Given the description of an element on the screen output the (x, y) to click on. 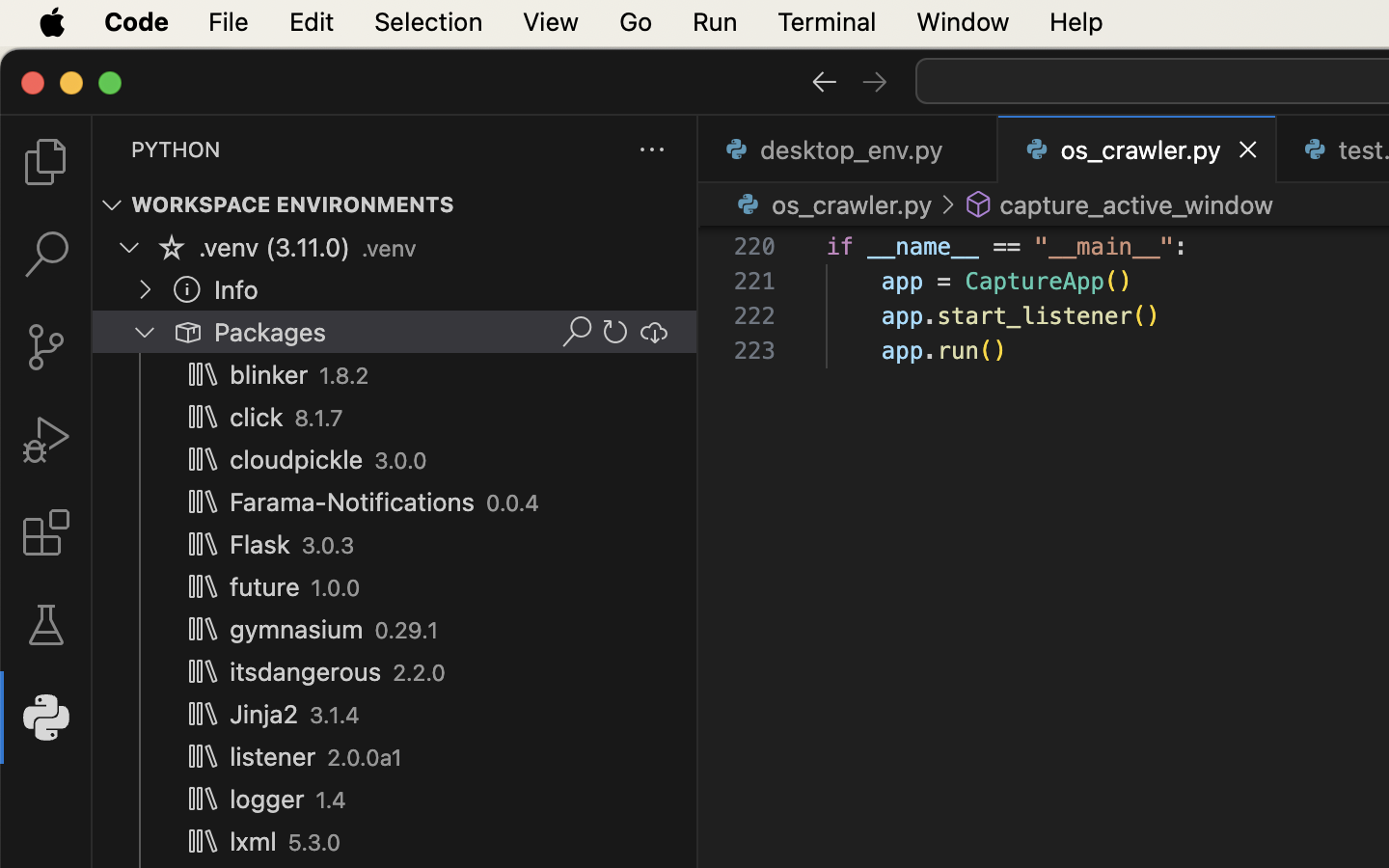
2.0.0a1 Element type: AXStaticText (365, 757)
2.2.0 Element type: AXStaticText (418, 672)
 Element type: AXStaticText (171, 246)
1.8.2 Element type: AXStaticText (345, 375)
.venv Element type: AXStaticText (388, 248)
